Given the description of an element on the screen output the (x, y) to click on. 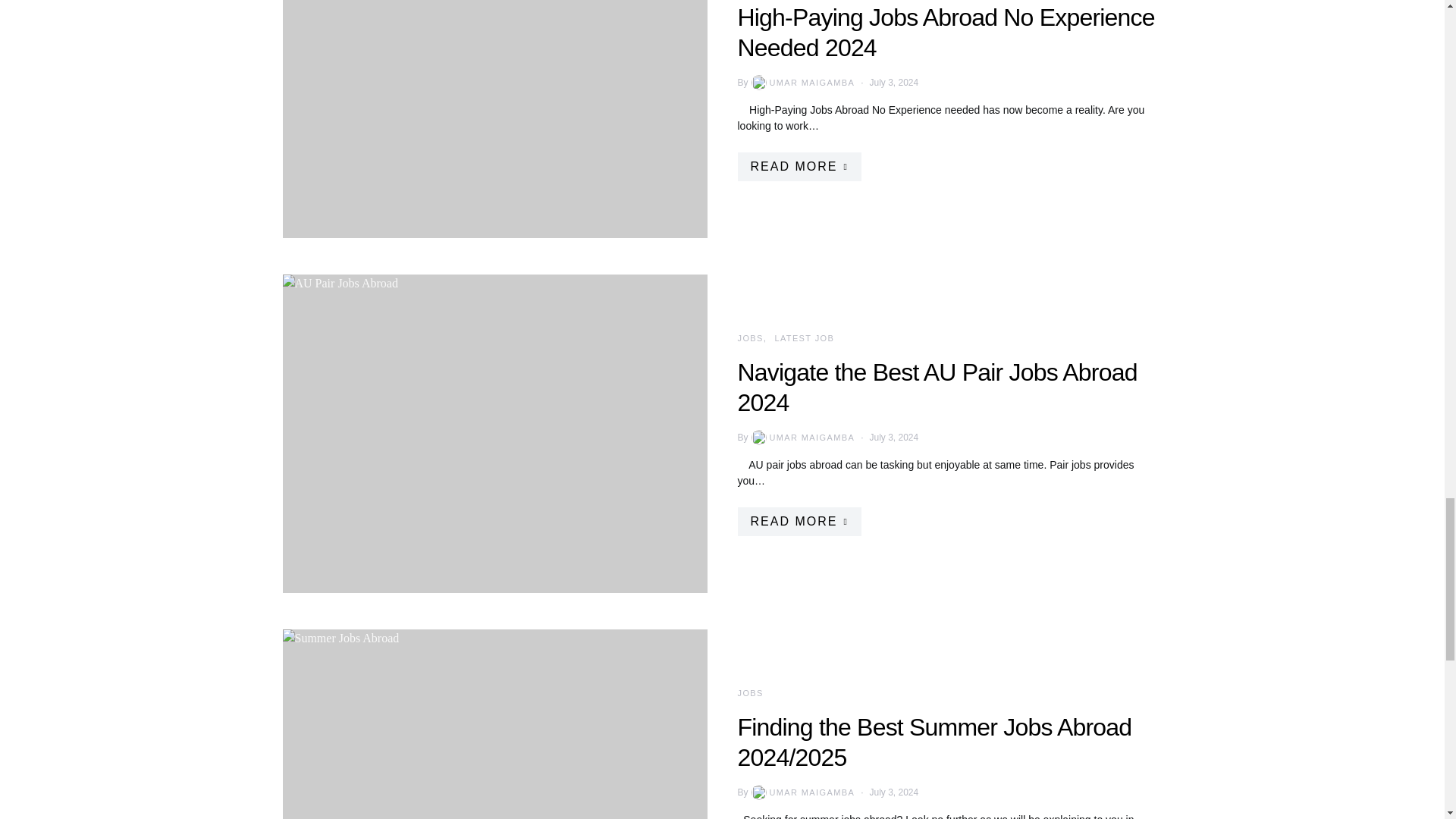
View all posts by Umar Maigamba (802, 792)
View all posts by Umar Maigamba (802, 82)
View all posts by Umar Maigamba (802, 437)
